Given the description of an element on the screen output the (x, y) to click on. 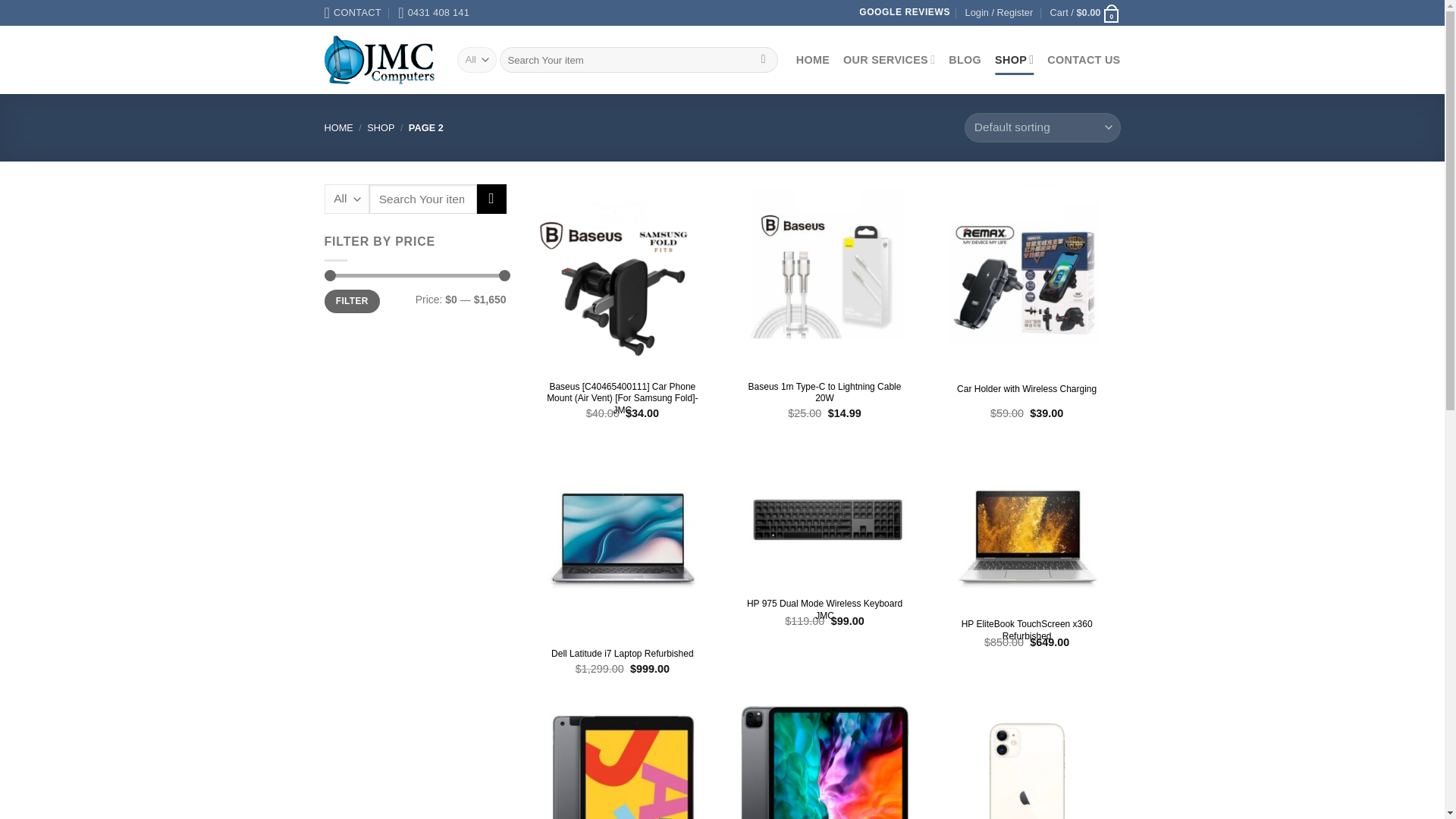
0431 408 141 (432, 12)
HOME (812, 59)
CONTACT (352, 12)
SHOP (1013, 59)
GOOGLE REVIEWS (904, 11)
Cart (1085, 12)
OUR SERVICES (888, 59)
BLOG (965, 59)
Search (763, 59)
JMC (378, 60)
Search (491, 198)
FILTER (352, 300)
CONTACT US (1082, 59)
HOME (338, 127)
SHOP (380, 127)
